Given the description of an element on the screen output the (x, y) to click on. 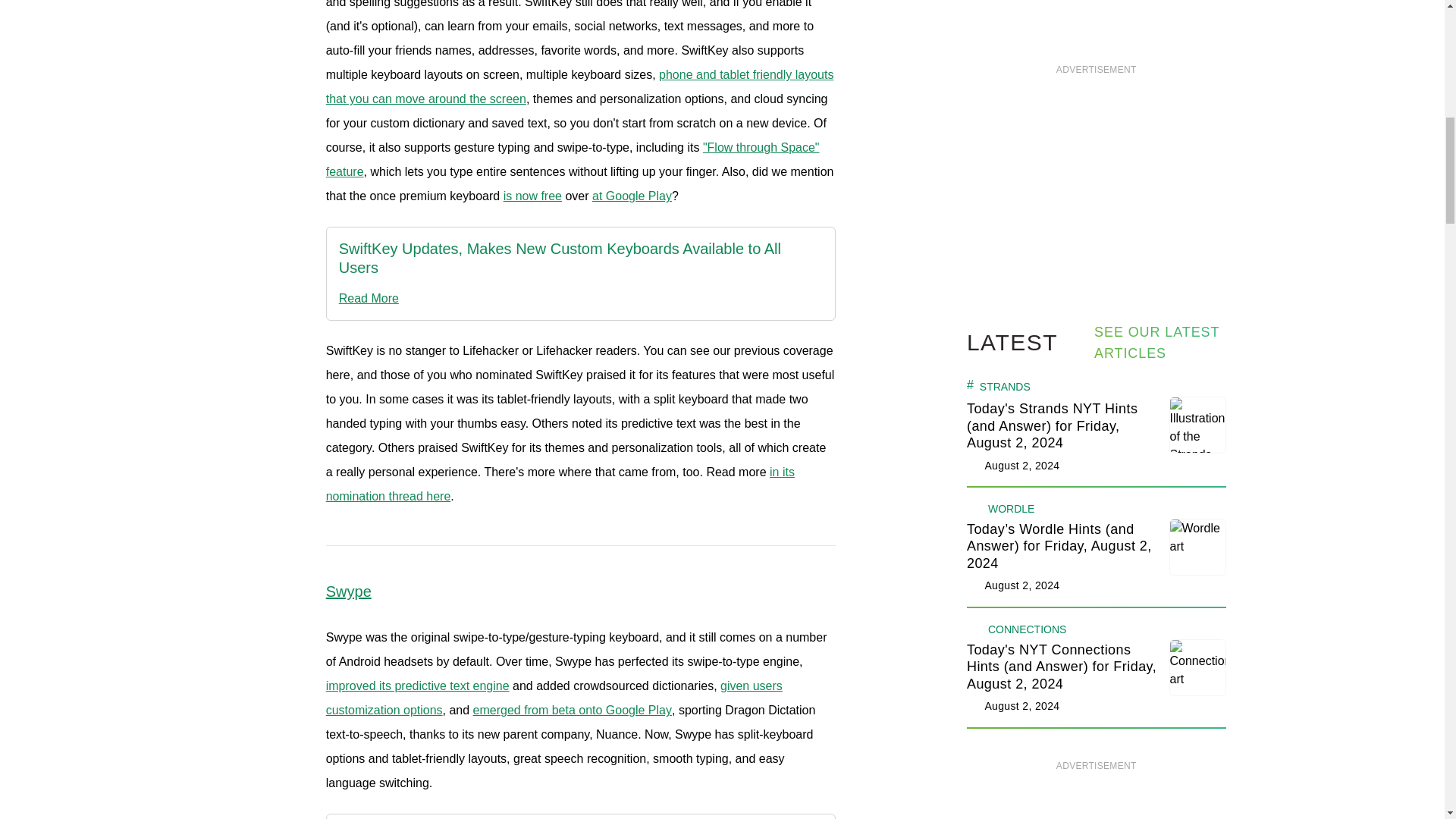
open in a new window (580, 86)
open in a new window (532, 195)
open in a new window (572, 159)
